Given the description of an element on the screen output the (x, y) to click on. 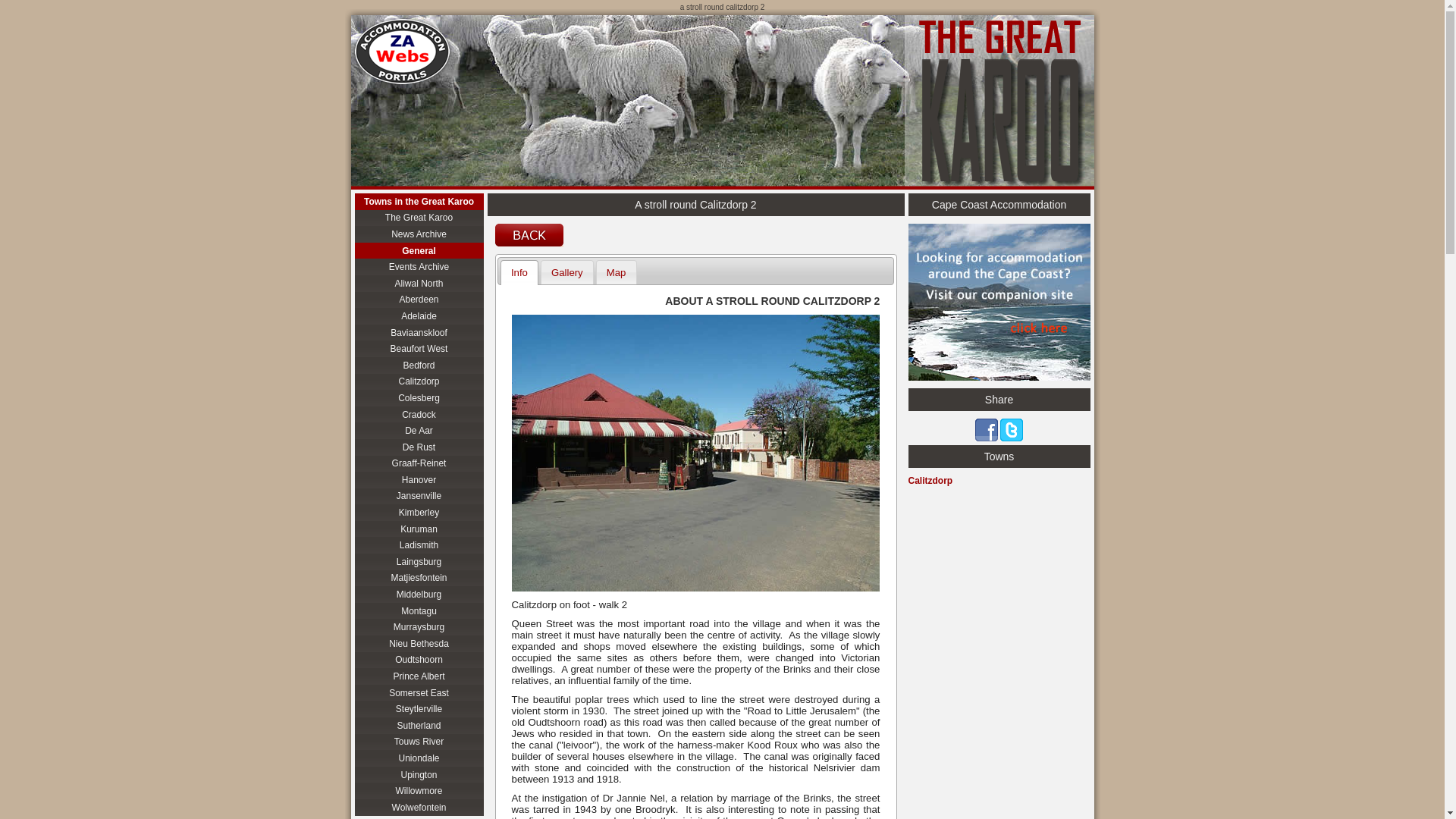
Go Back (528, 234)
Cradock (419, 414)
Wolwefontein (419, 807)
Graaff-Reinet (419, 463)
Share A stroll round Calitzdorp 2 on Facebook (986, 429)
The Great Karoo (419, 217)
Prince Albert (419, 676)
Map (616, 272)
Aberdeen (419, 299)
Oudtshoorn (419, 660)
Montagu (419, 610)
Steytlerville (419, 709)
Ladismith (419, 545)
Nieu Bethesda (419, 643)
Sutherland (419, 725)
